Given the description of an element on the screen output the (x, y) to click on. 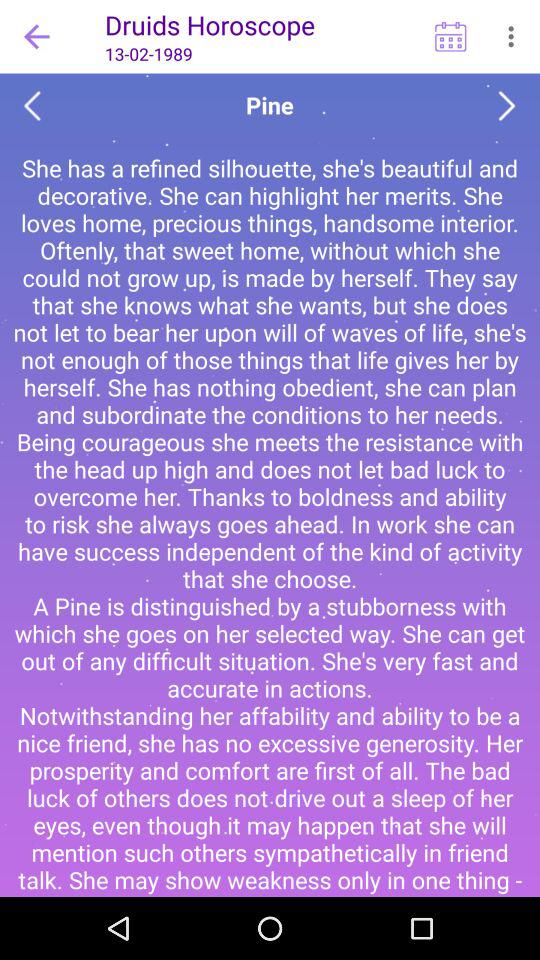
go back (32, 106)
